Given the description of an element on the screen output the (x, y) to click on. 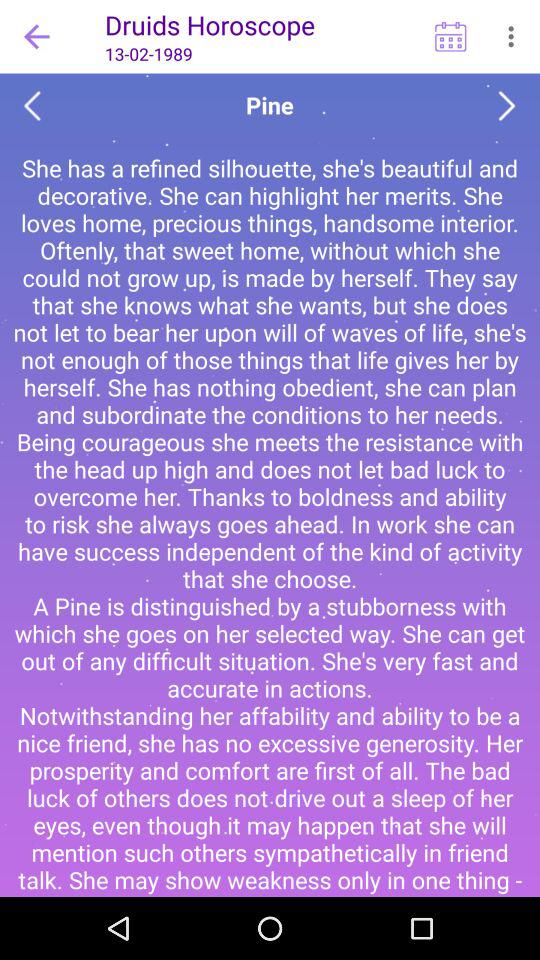
go back (32, 106)
